Given the description of an element on the screen output the (x, y) to click on. 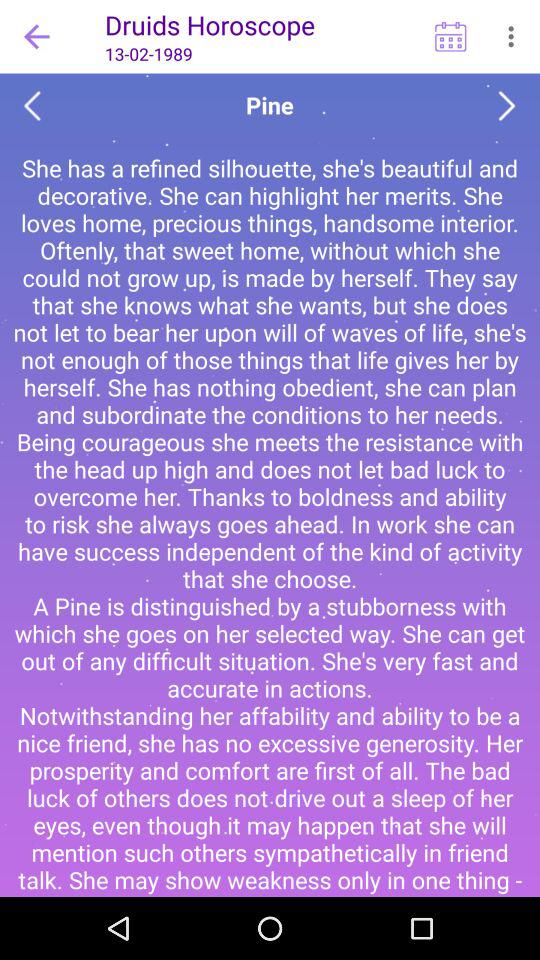
go back (32, 106)
